Given the description of an element on the screen output the (x, y) to click on. 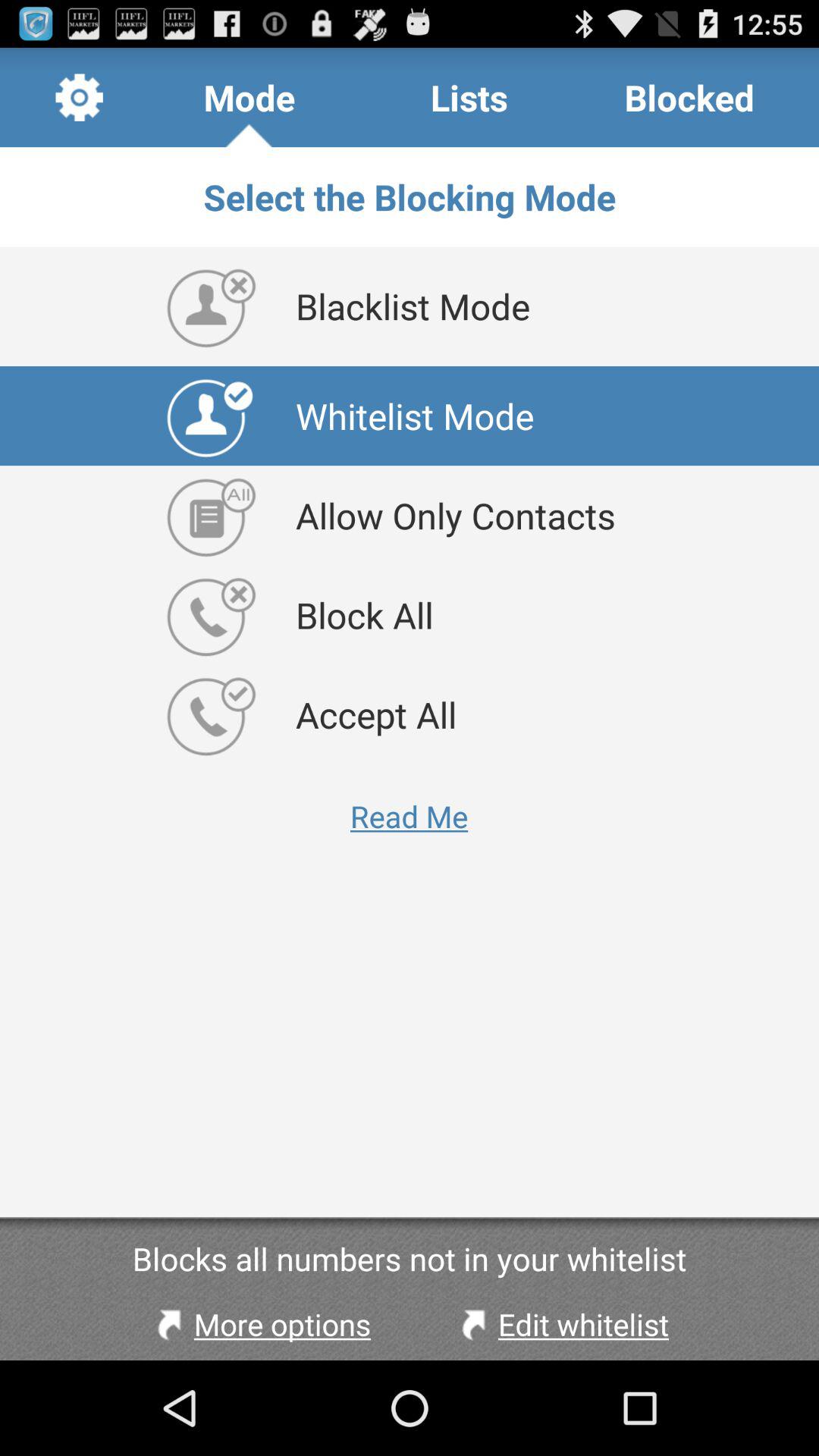
open the app to the right of the lists item (689, 97)
